Given the description of an element on the screen output the (x, y) to click on. 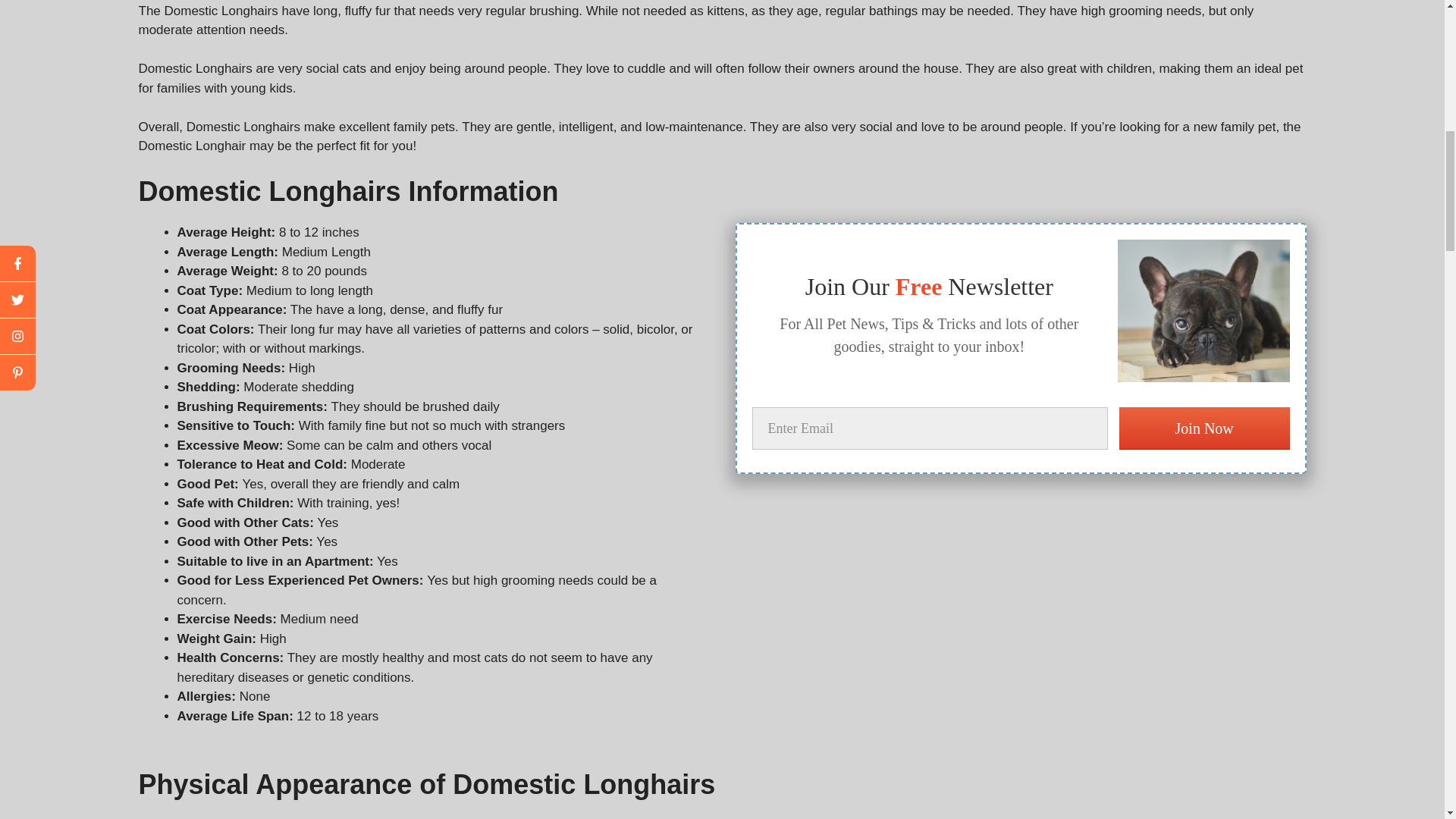
French Bulldog (1203, 310)
